Given the description of an element on the screen output the (x, y) to click on. 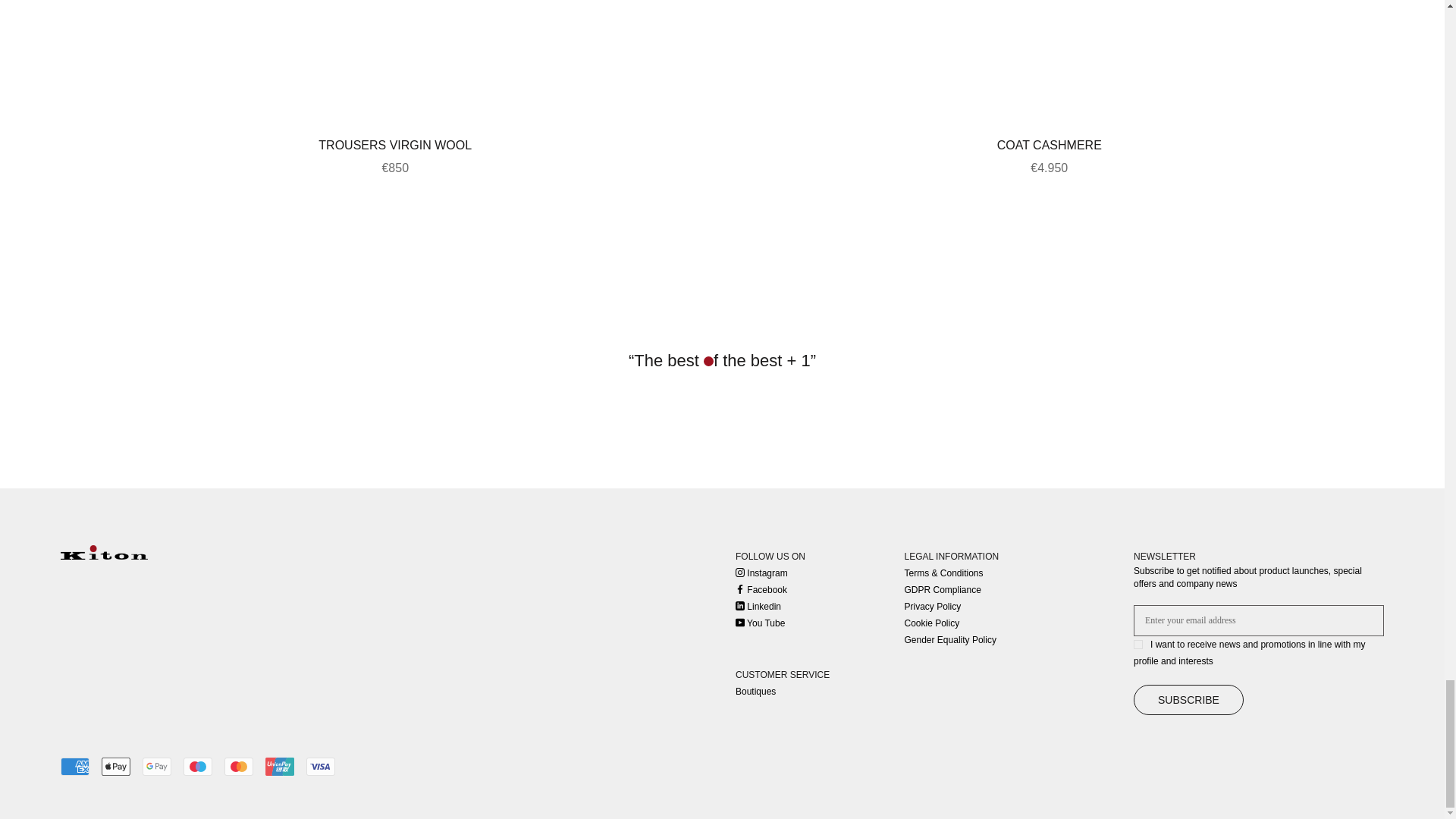
Union Pay (279, 766)
Visa (319, 766)
Apple Pay (116, 766)
Google Pay (156, 766)
Mastercard (238, 766)
American Express (74, 766)
Maestro (197, 766)
